Given the description of an element on the screen output the (x, y) to click on. 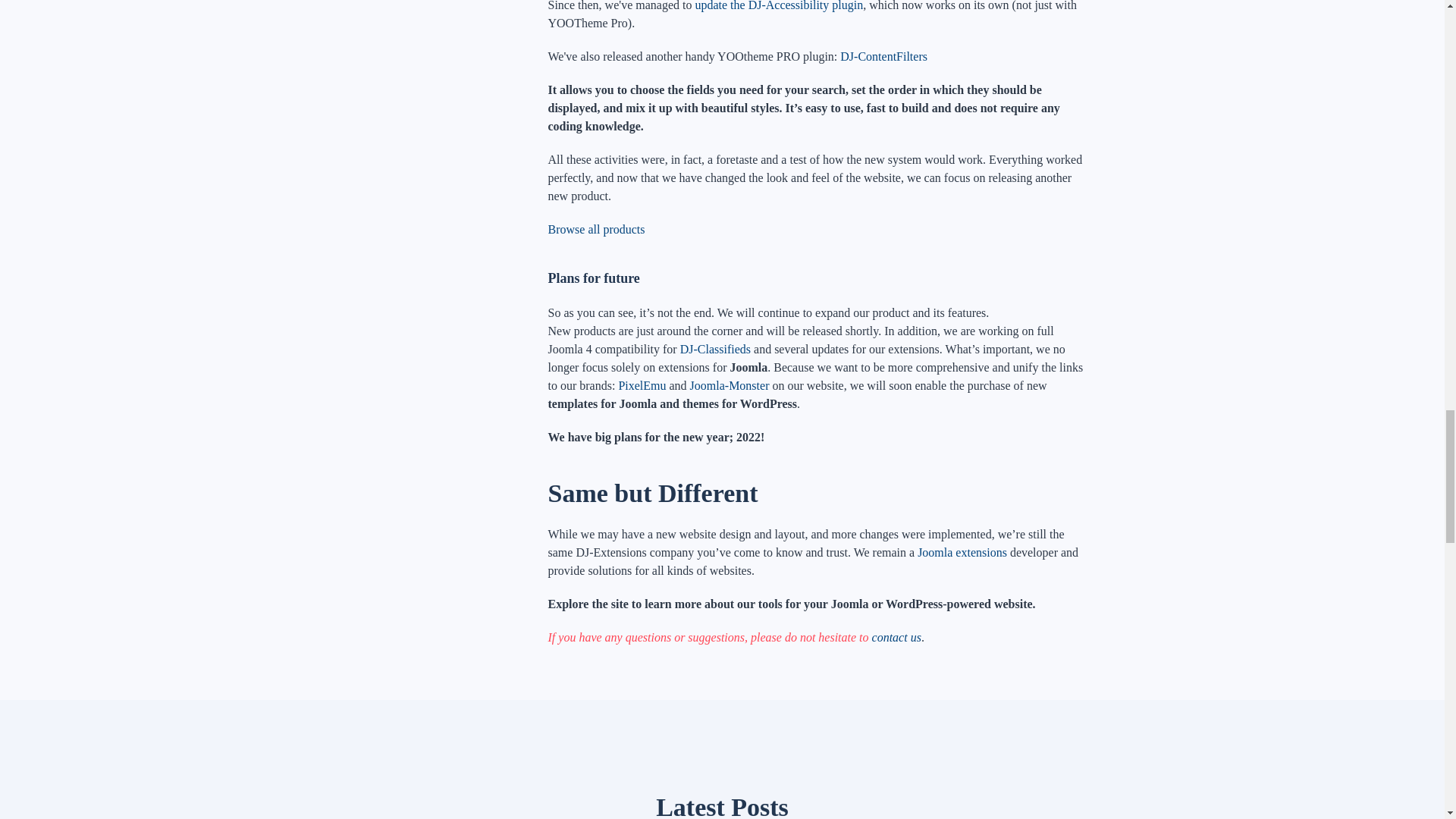
All products (596, 228)
DJ-Accessibility plugin (778, 5)
PixelEmu website (641, 385)
DJ-Classifieds (715, 349)
Joomla-Monster website (730, 385)
DJ-ContentFilters (883, 56)
